Given the description of an element on the screen output the (x, y) to click on. 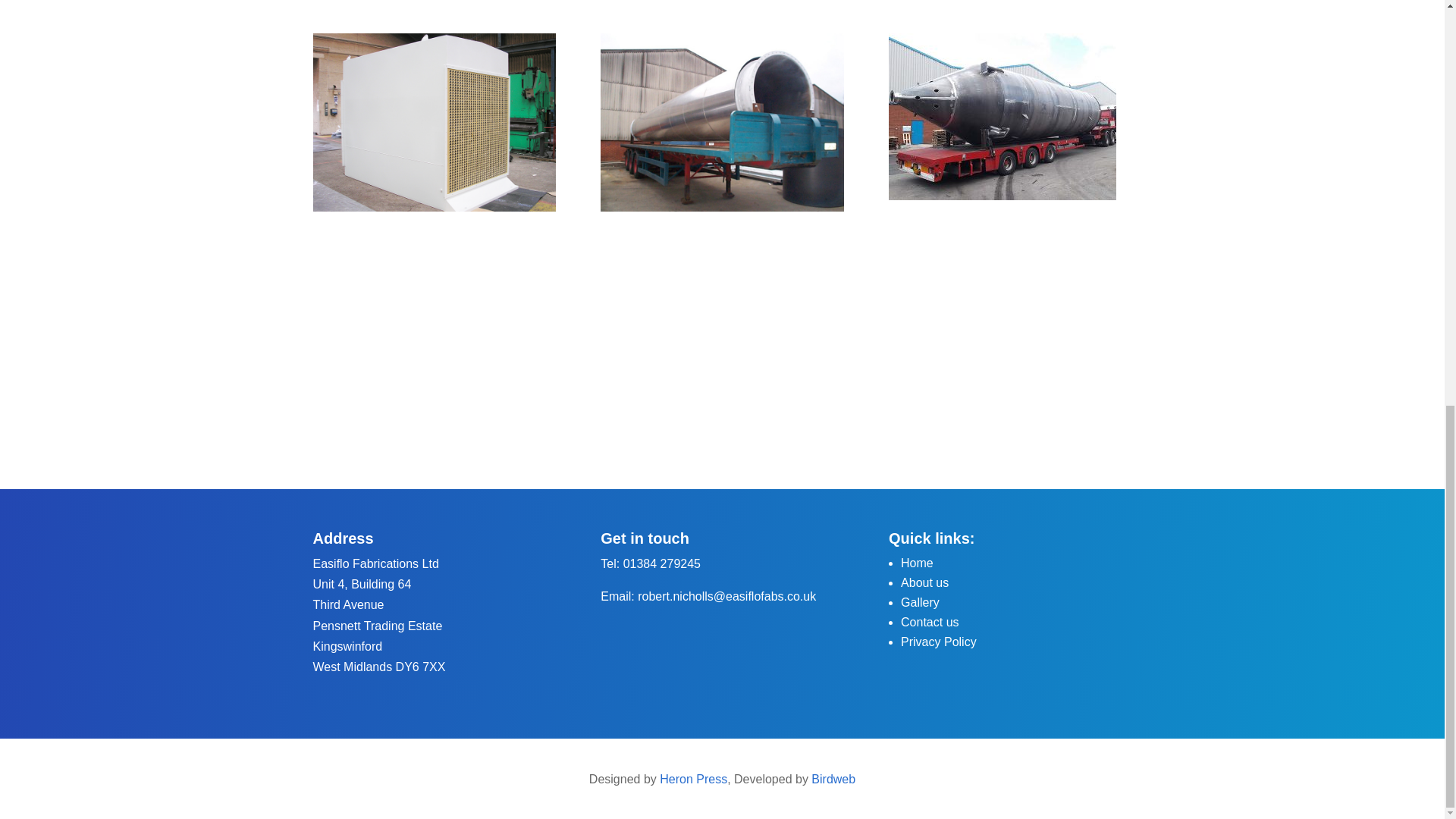
Gallery (920, 602)
01384 279245 (661, 563)
Contact us (929, 621)
Gallery (920, 602)
Privacy Policy (938, 641)
About us (925, 582)
Privacy Policy (938, 641)
Contact us (929, 621)
Home (917, 562)
About us (925, 582)
Home (917, 562)
Birdweb (833, 779)
Heron Press (692, 779)
